Given the description of an element on the screen output the (x, y) to click on. 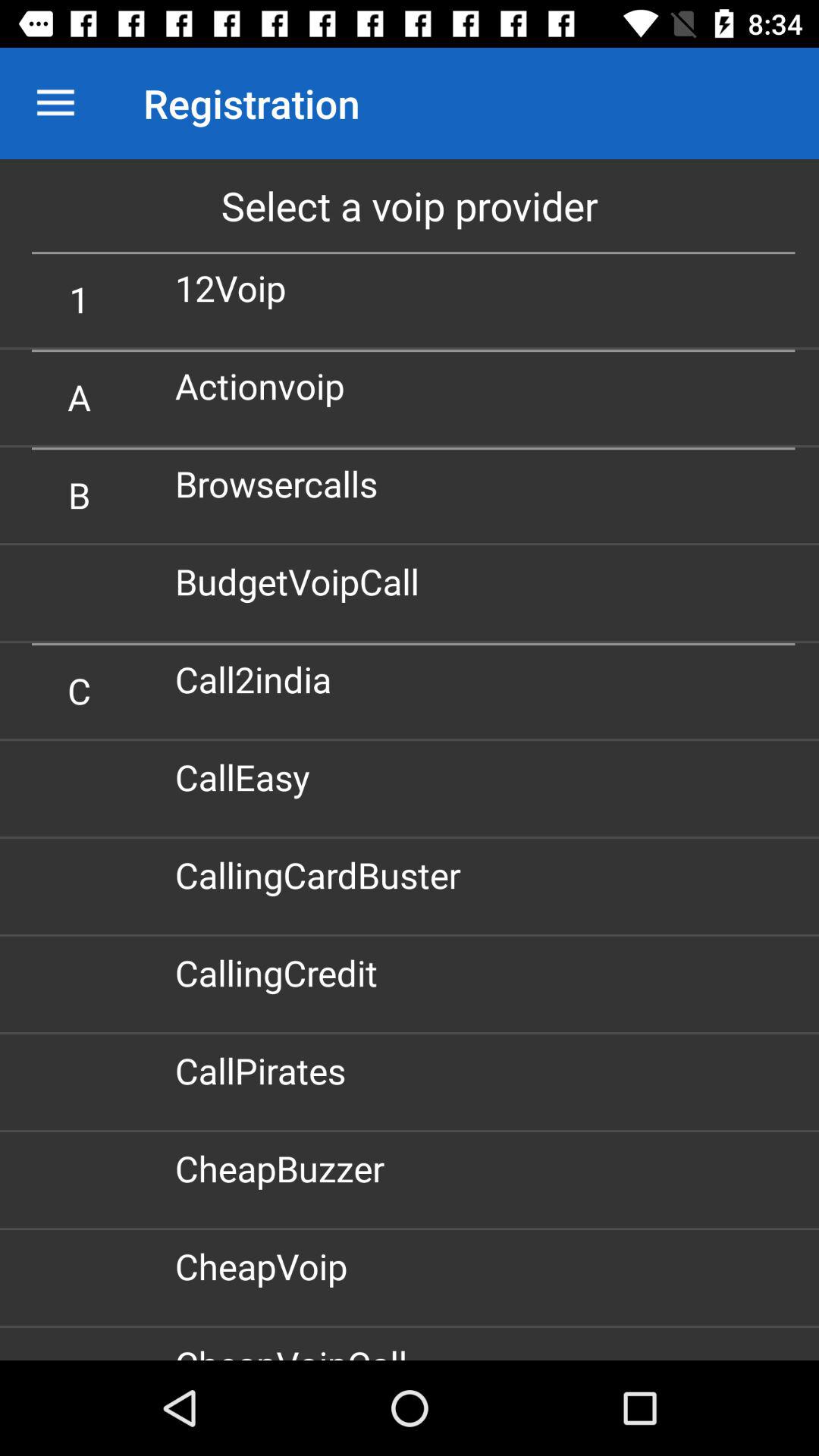
choose cheapvoip (267, 1266)
